Given the description of an element on the screen output the (x, y) to click on. 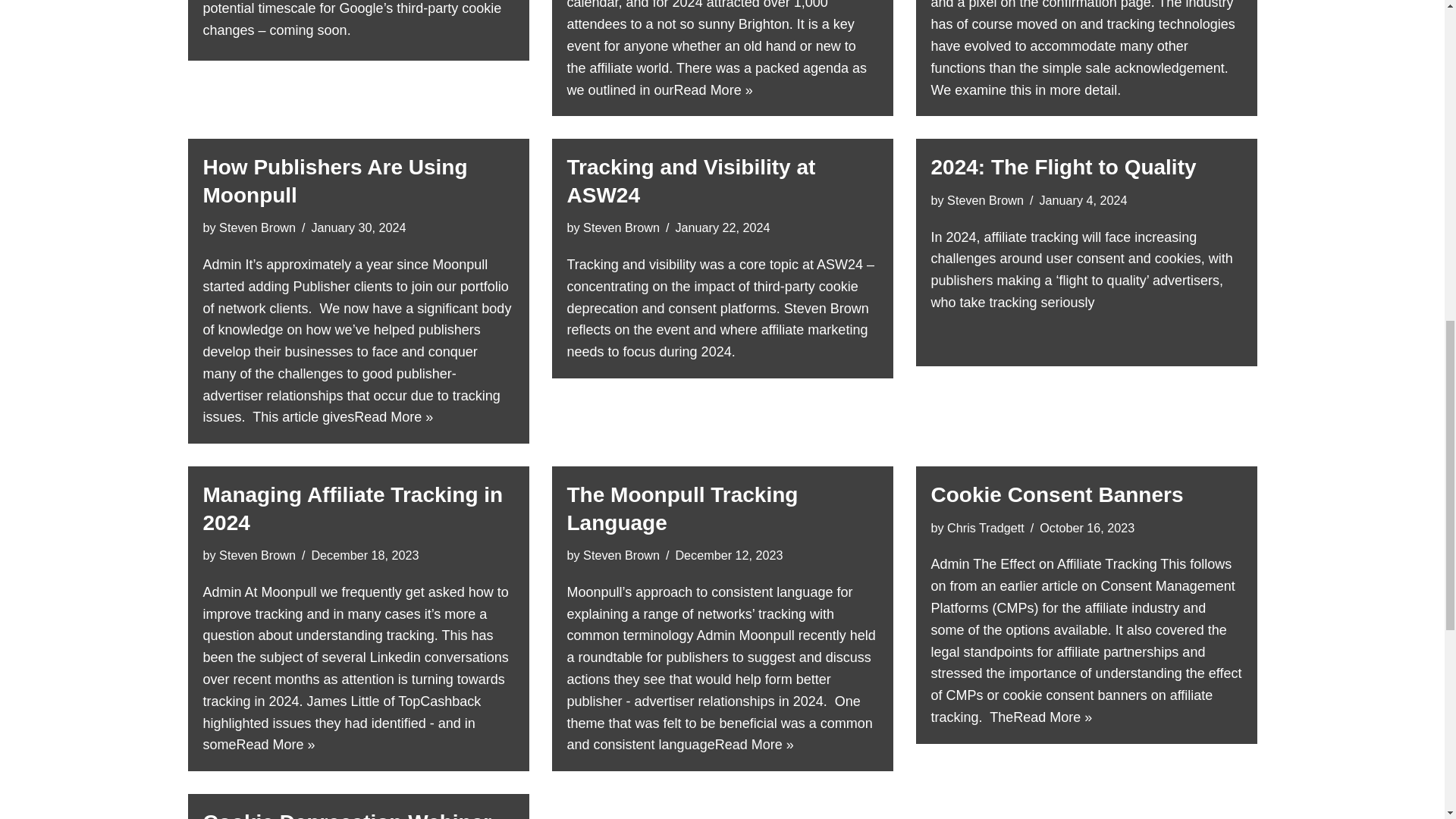
How Publishers Are Using Moonpull (335, 180)
Steven Brown (257, 554)
2024: The Flight to Quality (1063, 167)
Posts by Steven Brown (621, 554)
Posts by Chris Tradgett (986, 527)
The Moonpull Tracking Language (682, 508)
Steven Brown (621, 227)
Steven Brown (985, 200)
Steven Brown (257, 227)
Posts by Steven Brown (257, 554)
